Given the description of an element on the screen output the (x, y) to click on. 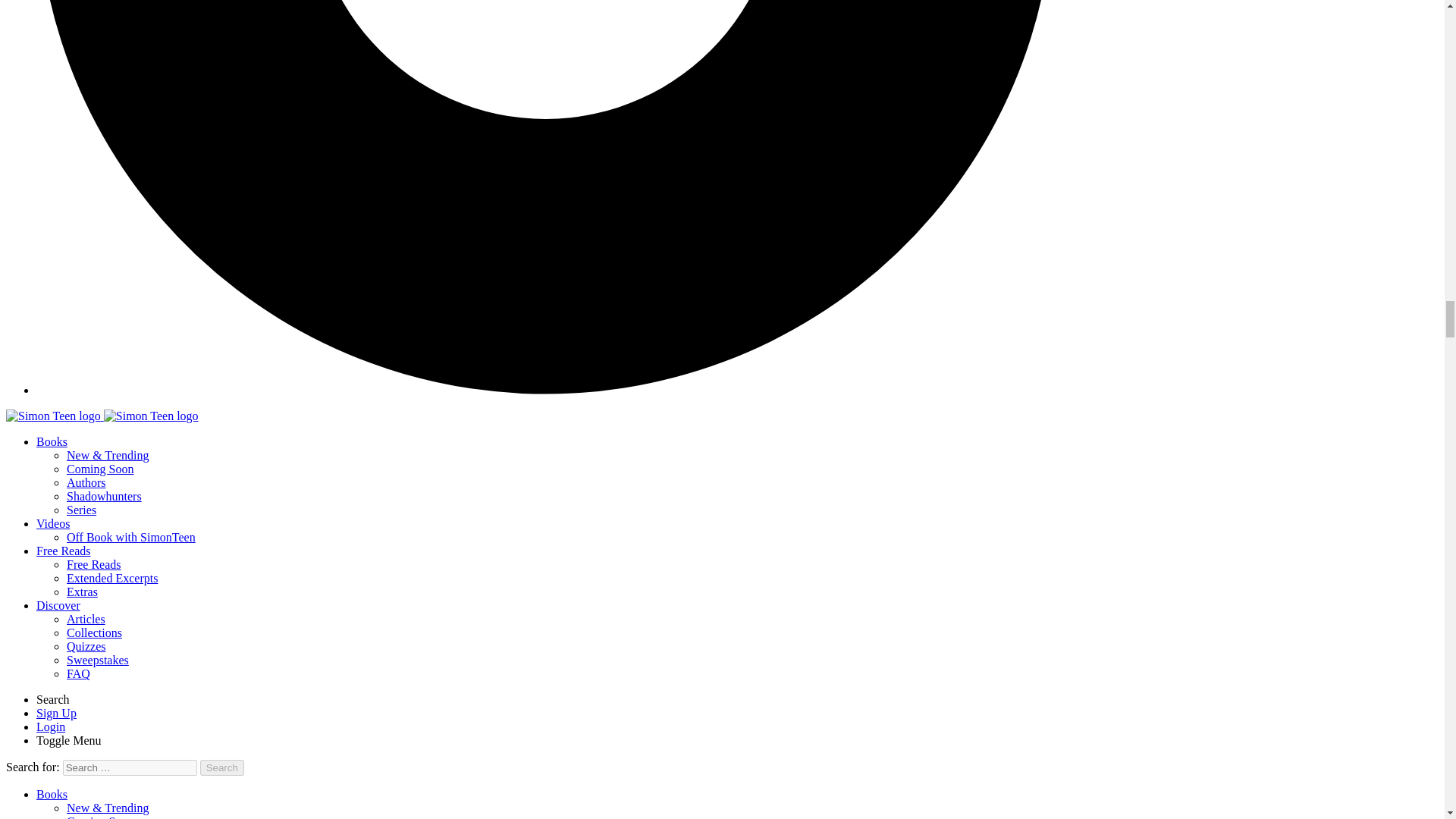
FAQ (78, 673)
Videos (52, 522)
Discover (58, 604)
Search (222, 767)
Off Book with SimonTeen (130, 536)
Authors (86, 481)
Toggle Menu (68, 739)
Series (81, 509)
Simon Teen (150, 416)
Search (52, 698)
Simon Teen (101, 415)
Search (222, 767)
Extras (81, 591)
Coming Soon (99, 468)
Books (51, 793)
